Given the description of an element on the screen output the (x, y) to click on. 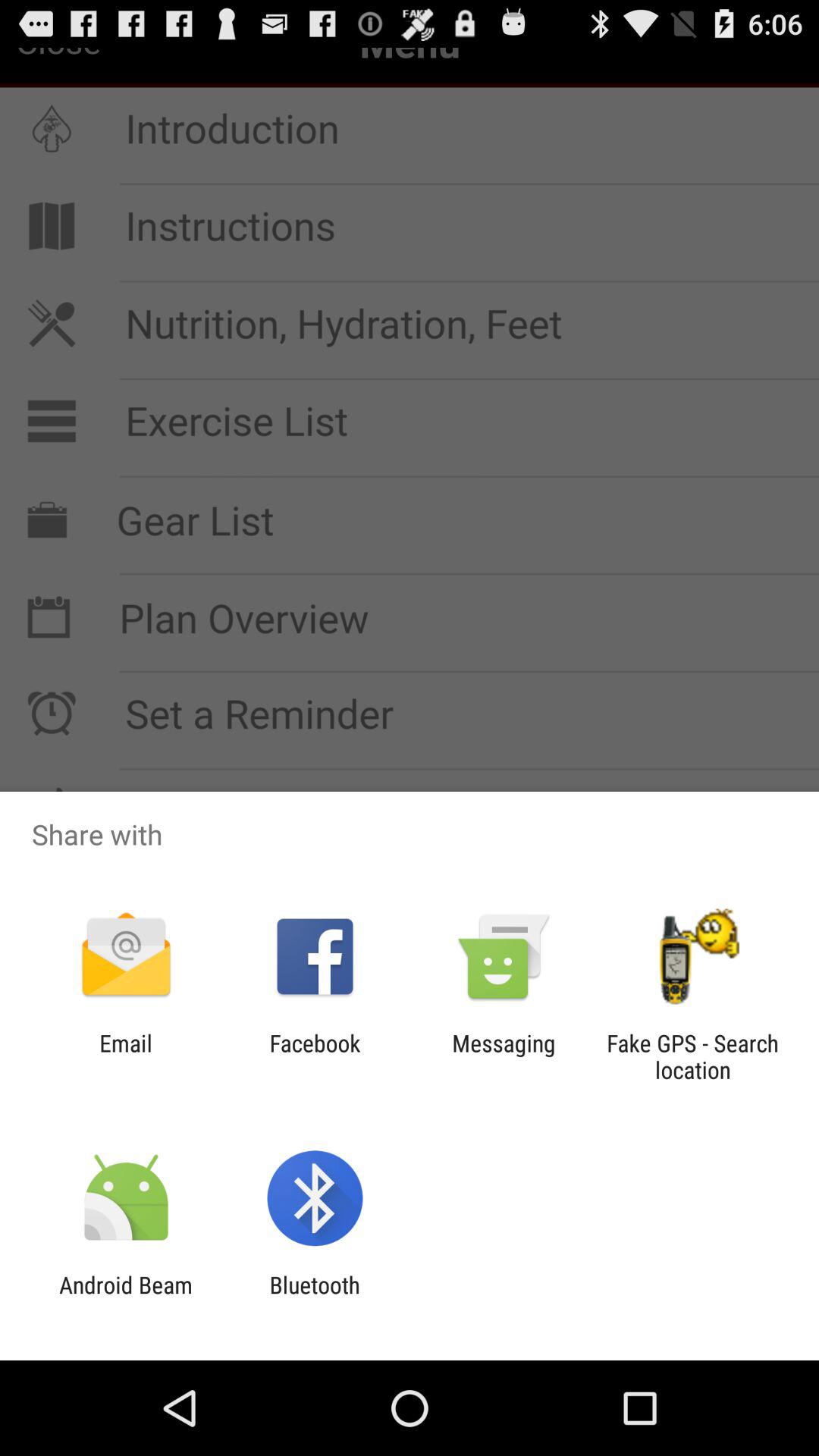
choose the android beam app (125, 1298)
